Given the description of an element on the screen output the (x, y) to click on. 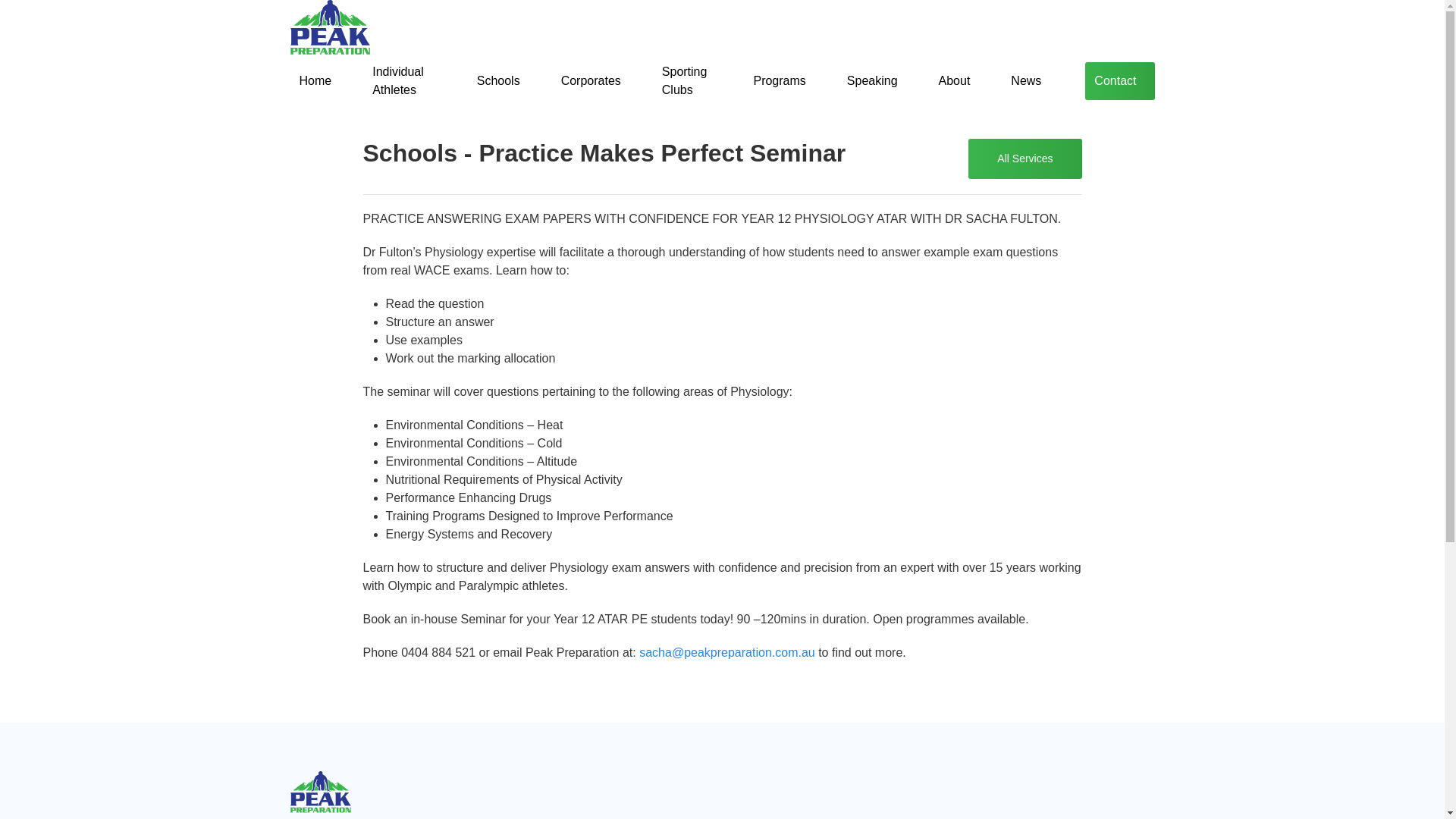
Programs (778, 80)
Schools (498, 80)
Home (314, 80)
Sporting Clubs (687, 80)
Individual Athletes (403, 80)
All Services (1024, 158)
About (954, 80)
Contact (1119, 80)
News (1025, 80)
Speaking (872, 80)
Corporates (590, 80)
